Given the description of an element on the screen output the (x, y) to click on. 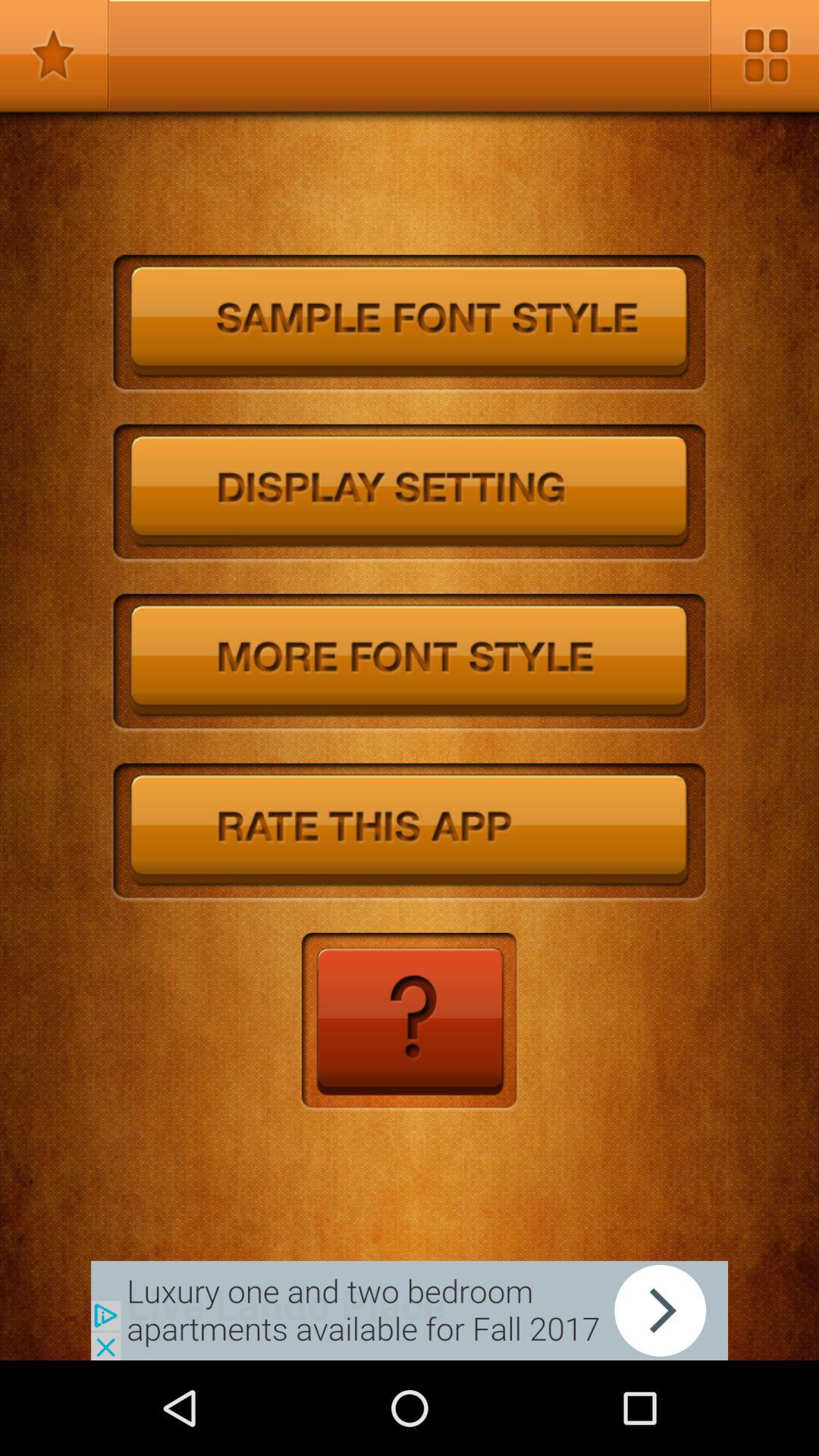
go to sample font style (409, 324)
